Given the description of an element on the screen output the (x, y) to click on. 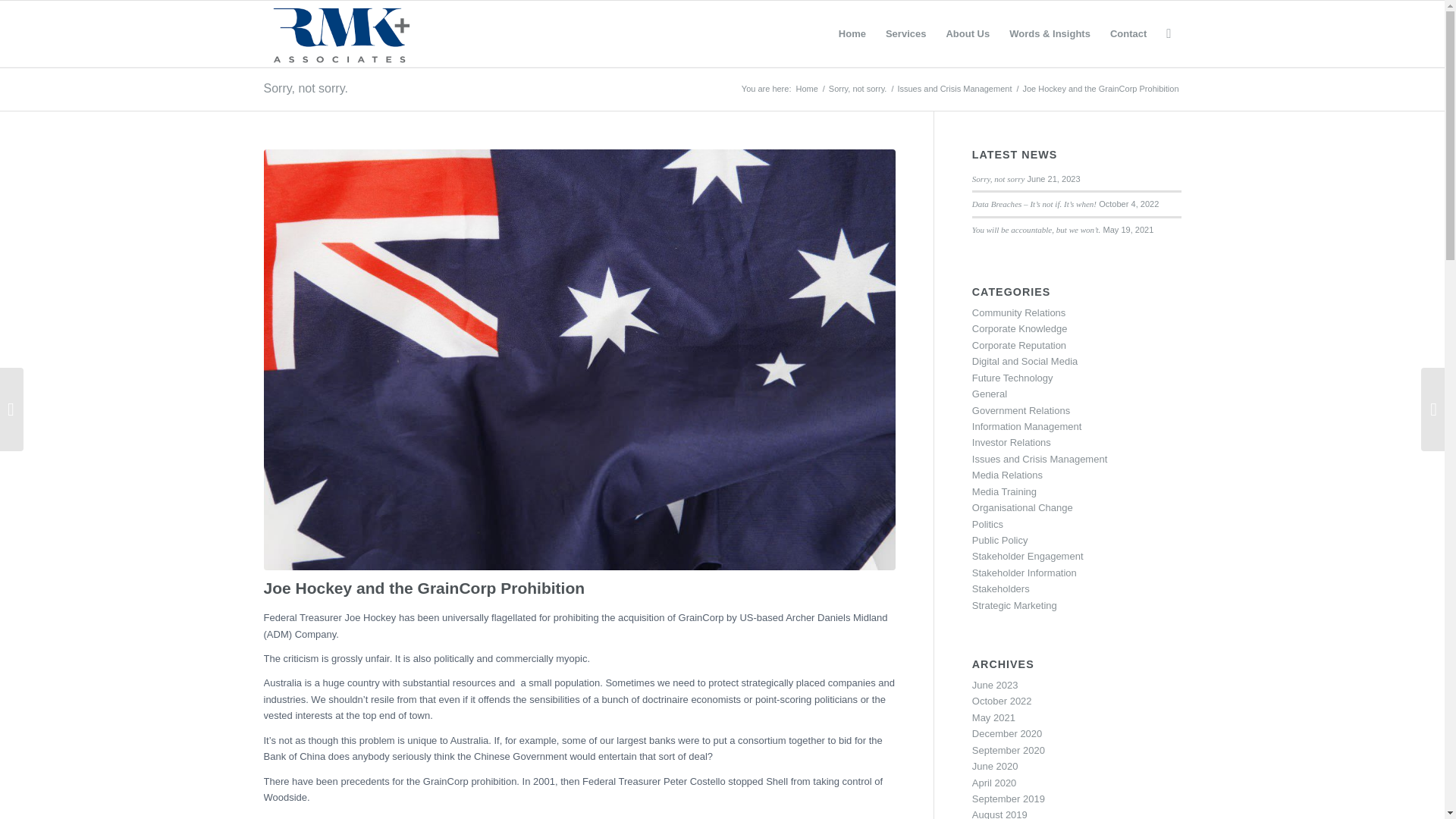
Permanent Link: Sorry, not sorry. (305, 88)
About Us (967, 33)
Services (906, 33)
Sorry, not sorry (998, 178)
Issues and Crisis Management (954, 89)
Corporate Knowledge (1019, 328)
Digital and Social Media (1024, 360)
Sorry, not sorry. (305, 88)
RMKA - communication and media consultants (806, 89)
